Given the description of an element on the screen output the (x, y) to click on. 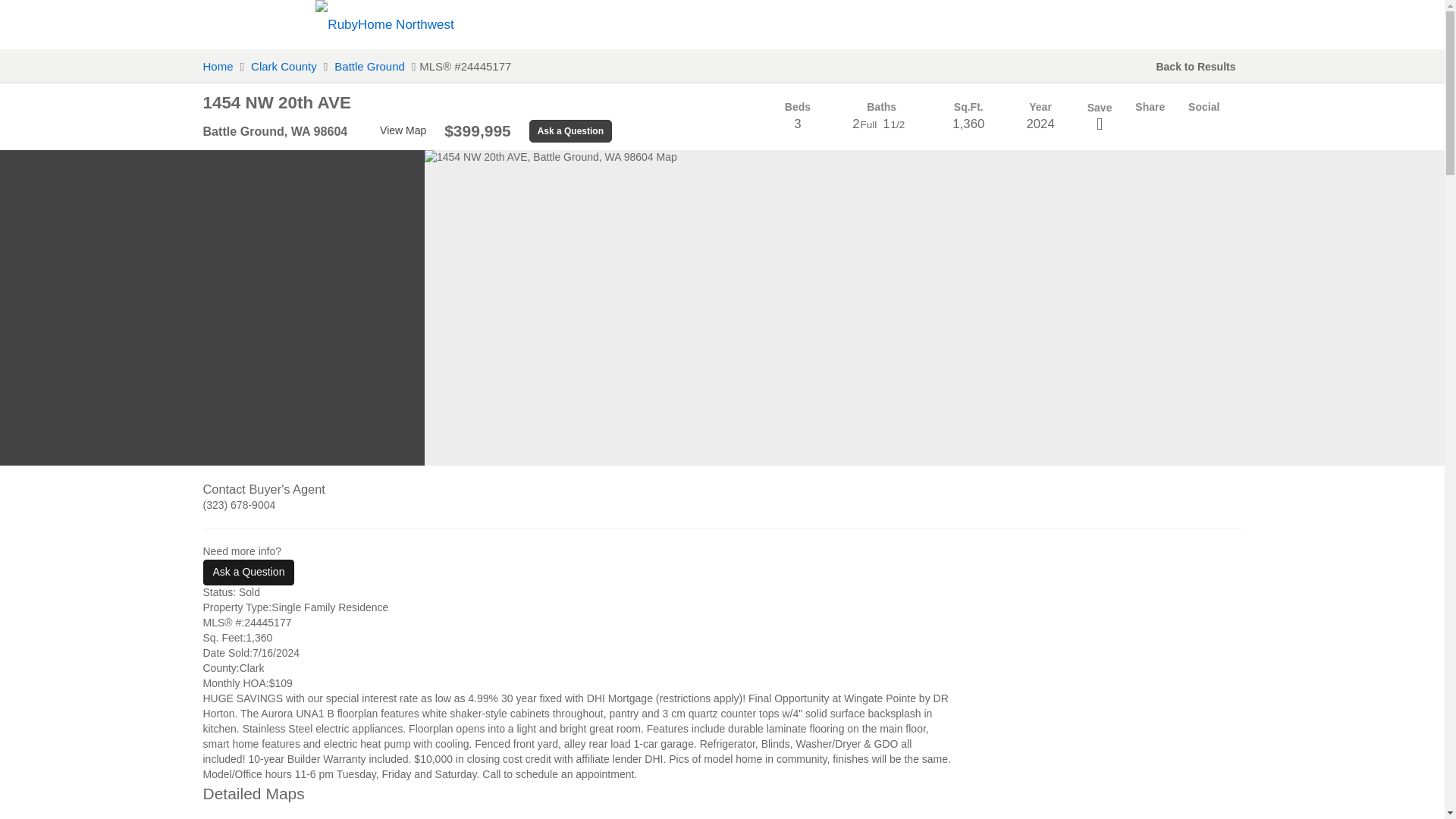
View Map (578, 800)
